Given the description of an element on the screen output the (x, y) to click on. 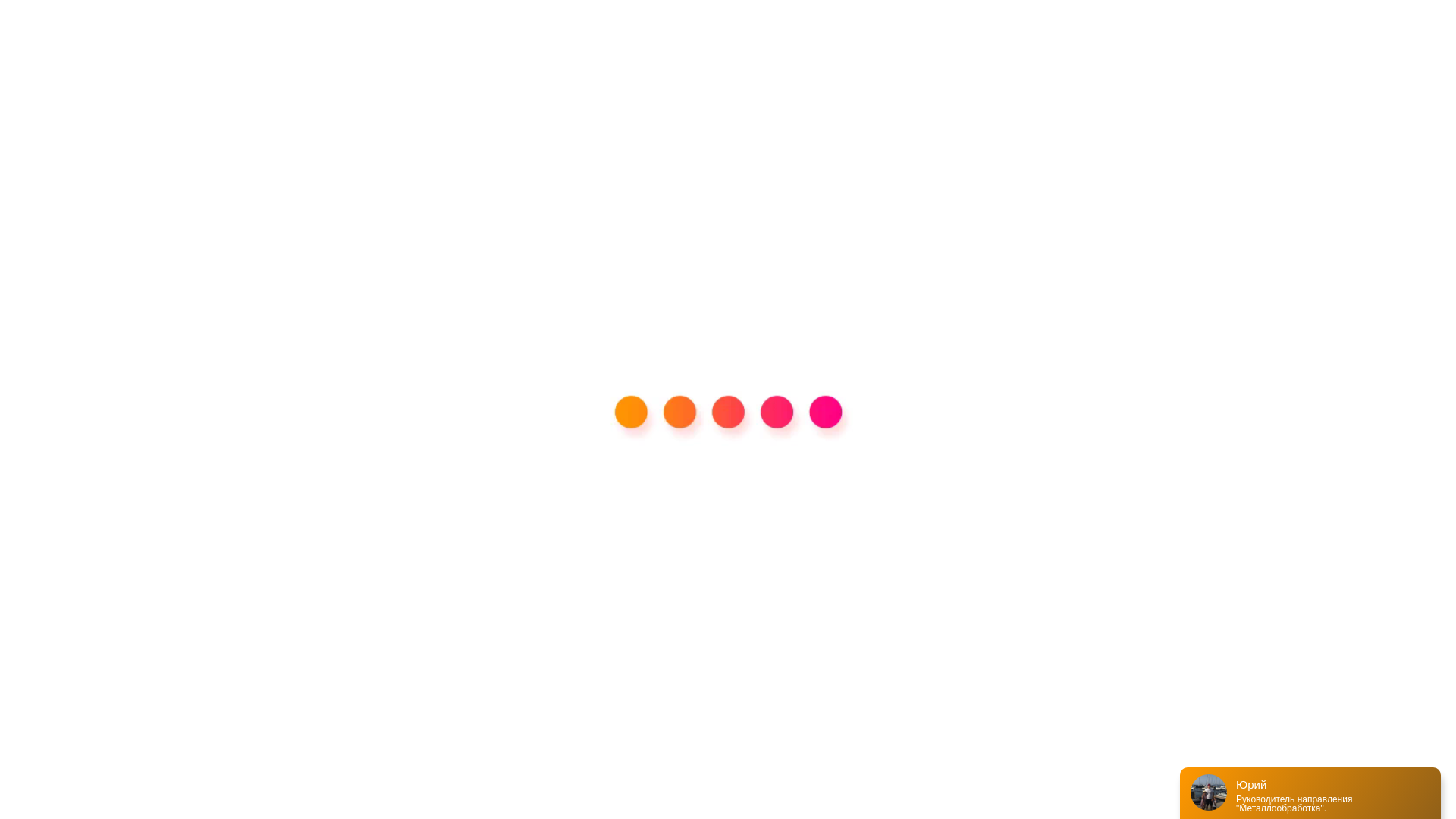
+375 (17) 278-84-89 Element type: text (1050, 31)
+375 (17) 272-17-22 Element type: text (1050, 51)
